Given the description of an element on the screen output the (x, y) to click on. 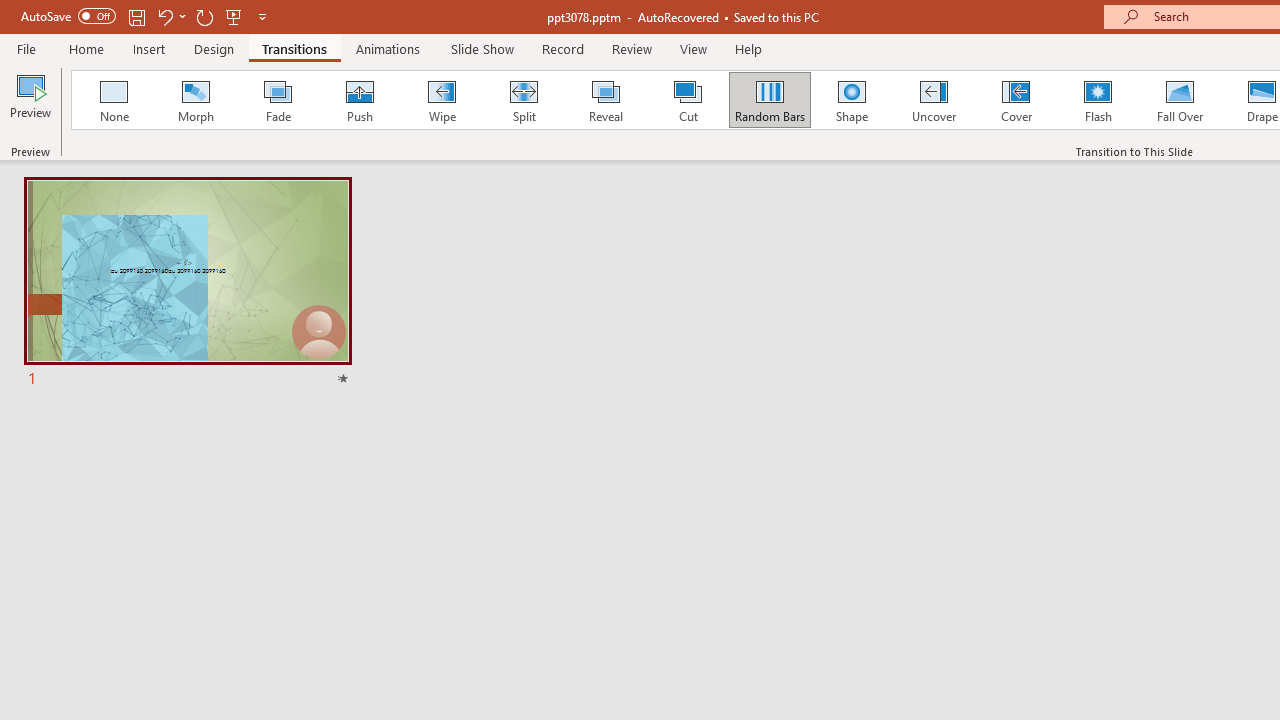
Uncover (934, 100)
Morph (195, 100)
